Given the description of an element on the screen output the (x, y) to click on. 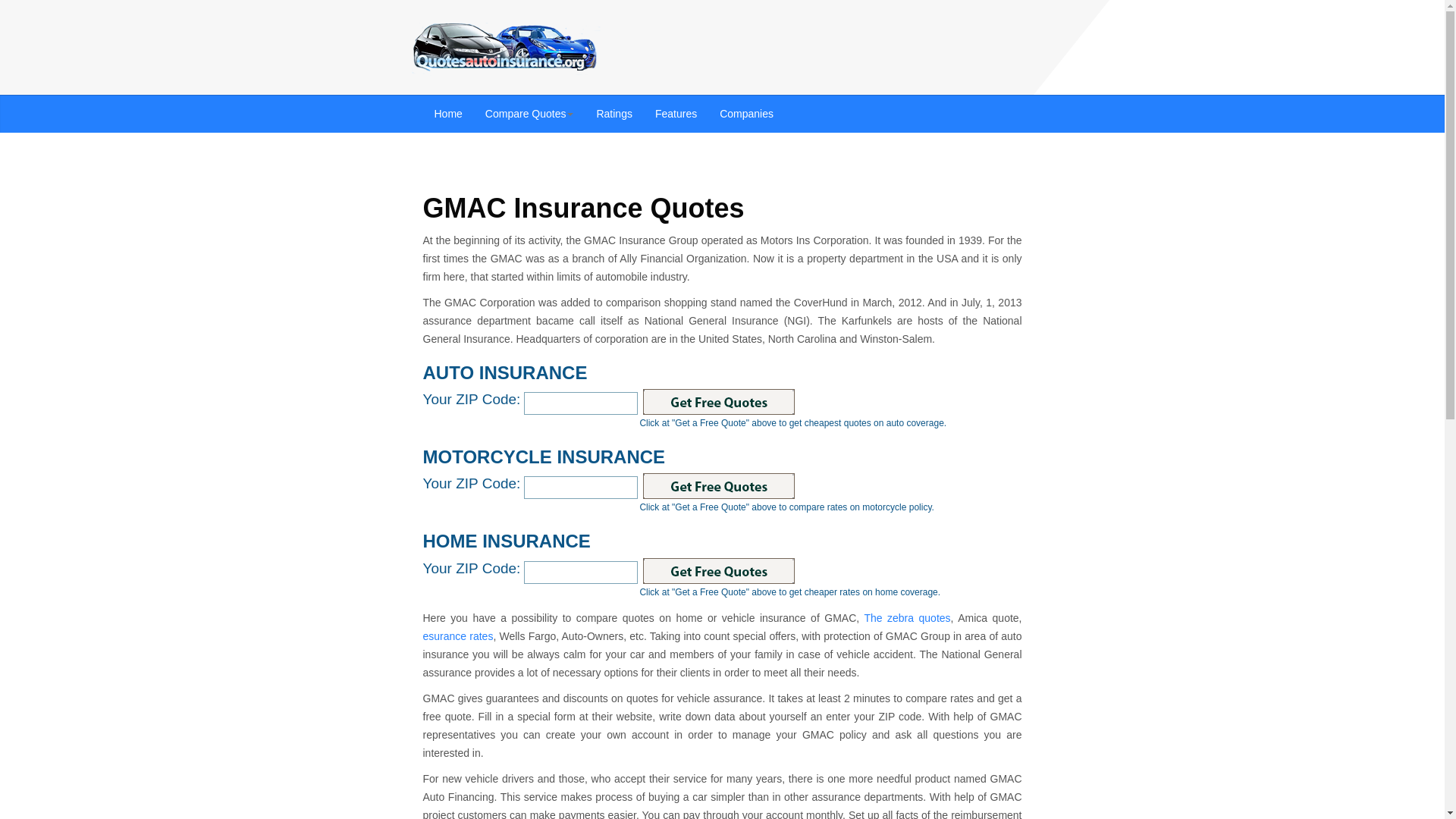
Companies (745, 113)
Ratings (614, 113)
Home (448, 113)
esurance rates (458, 635)
Compare auto insurance quotes (504, 49)
Compare Quotes (529, 113)
Features (675, 113)
The zebra quotes (906, 617)
